Given the description of an element on the screen output the (x, y) to click on. 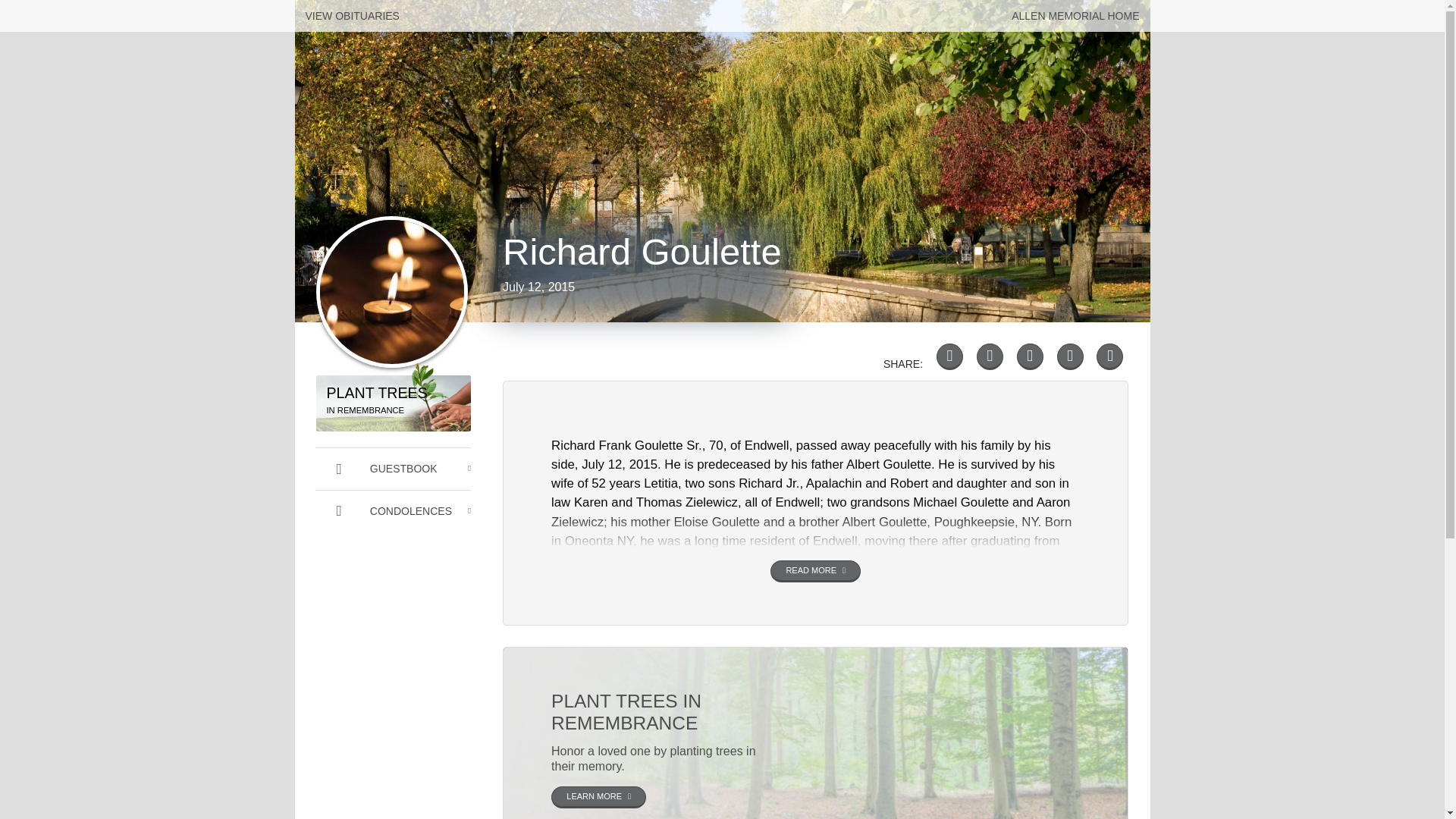
VIEW OBITUARIES (351, 15)
GUESTBOOK (392, 468)
themed print (392, 403)
ALLEN MEMORIAL HOME (1109, 356)
LEARN MORE (1074, 15)
CONDOLENCES (598, 797)
Plant Trees (392, 510)
